Given the description of an element on the screen output the (x, y) to click on. 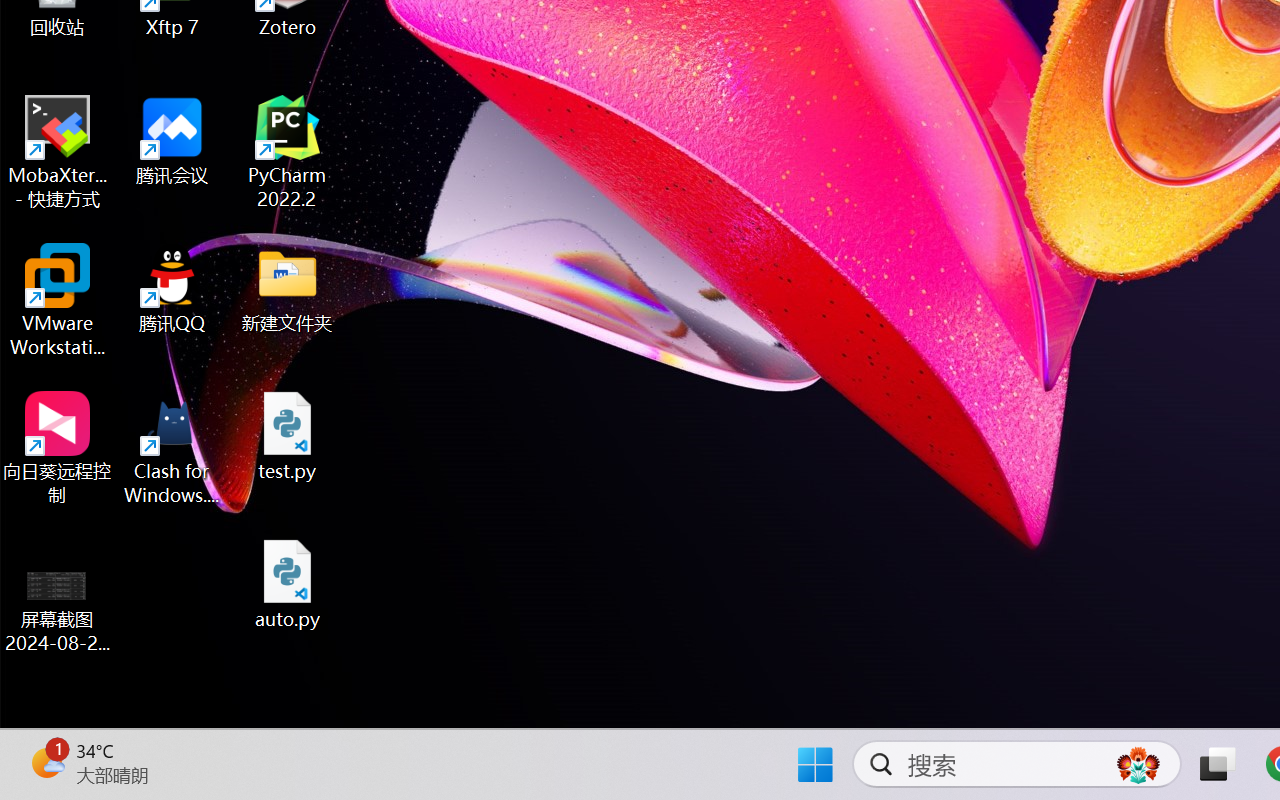
VMware Workstation Pro (57, 300)
test.py (287, 436)
auto.py (287, 584)
